Given the description of an element on the screen output the (x, y) to click on. 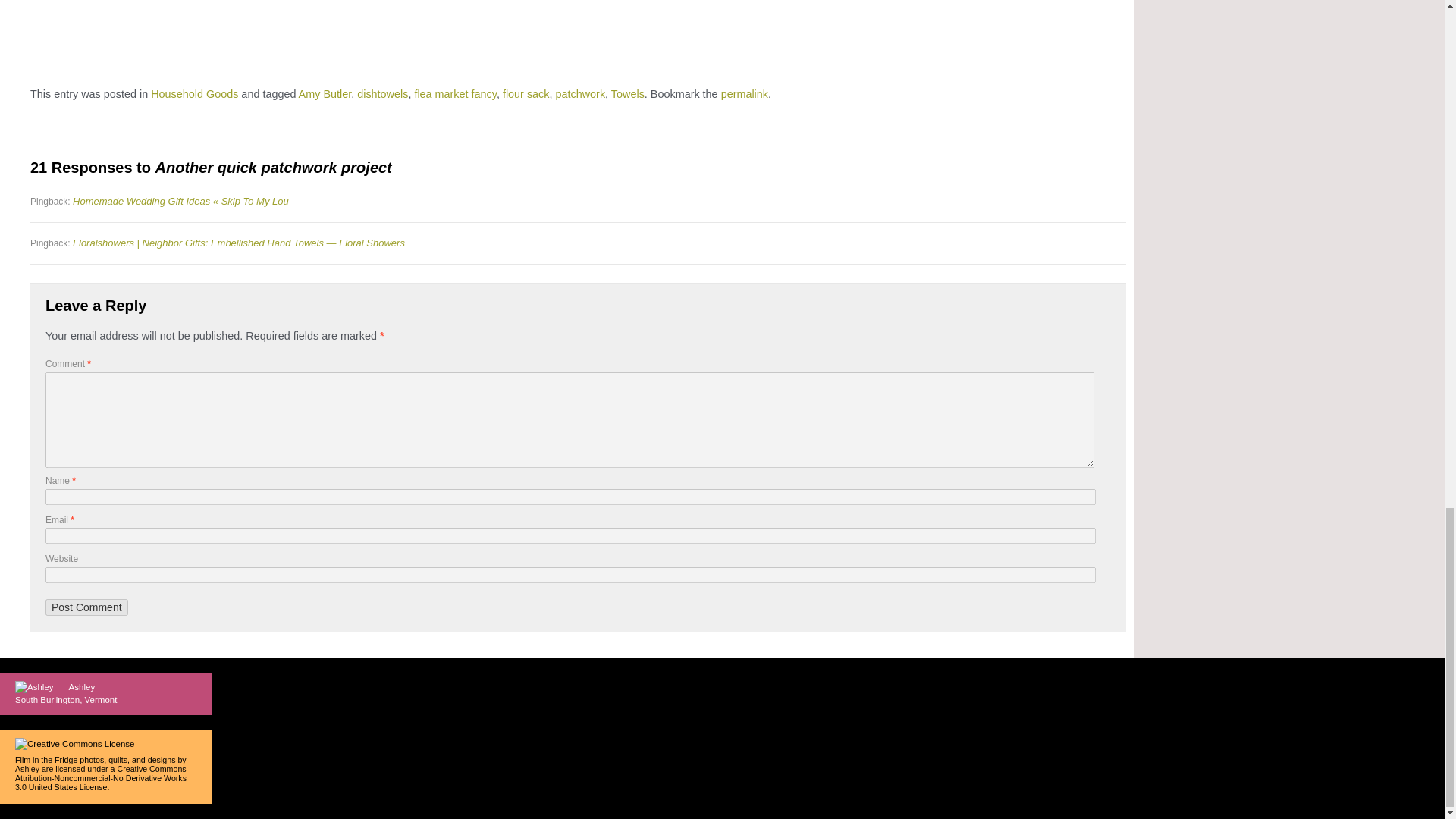
Amy Butler (325, 93)
Permalink to Another quick patchwork project (744, 93)
Post Comment (86, 606)
Household Goods (194, 93)
Towels (628, 93)
flour sack (526, 93)
permalink (744, 93)
dishtowels (381, 93)
flea market fancy (454, 93)
patchwork-towels2 (162, 38)
